Given the description of an element on the screen output the (x, y) to click on. 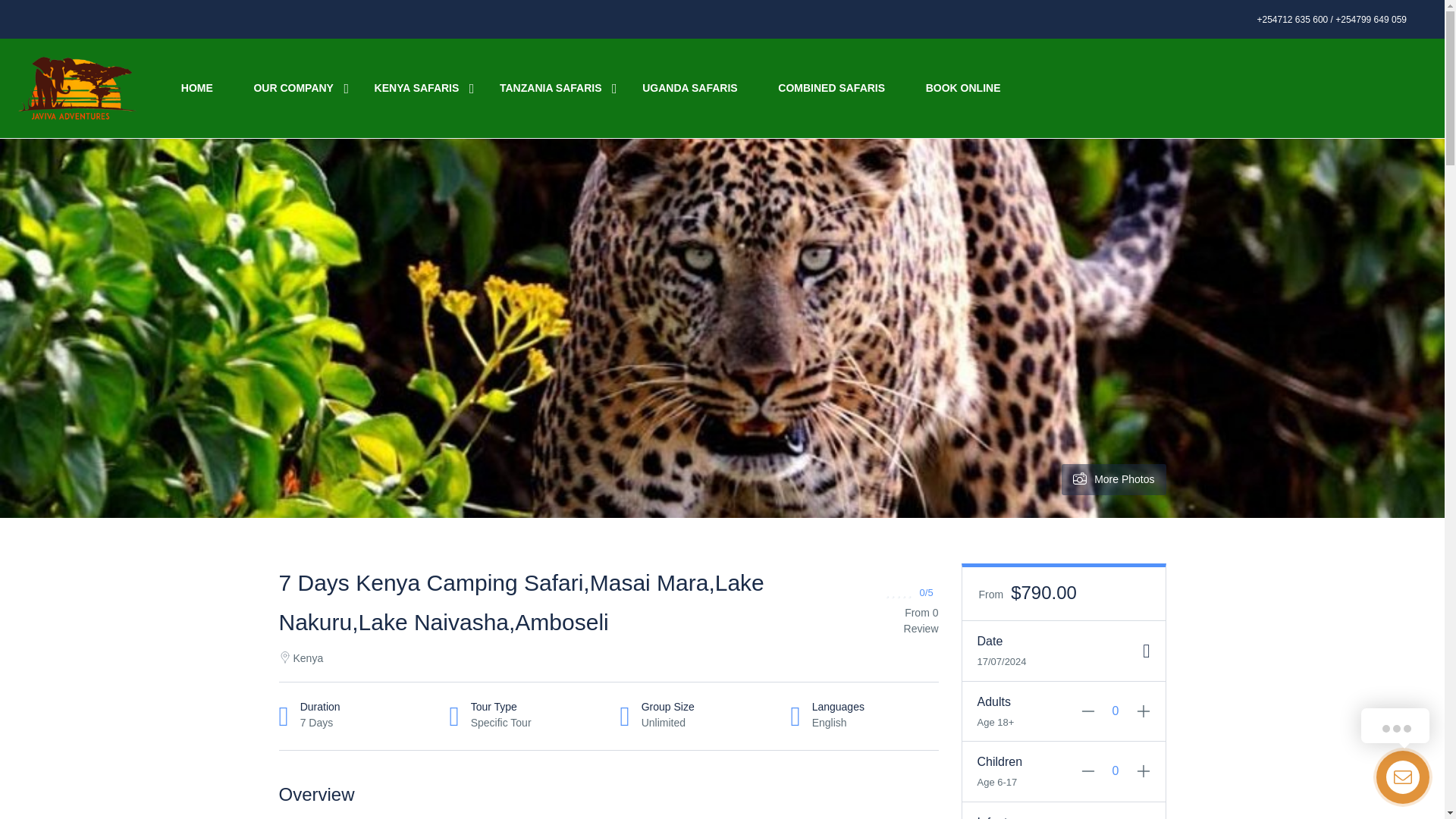
COMBINED SAFARIS (831, 88)
BOOK ONLINE (963, 88)
UGANDA SAFARIS (690, 88)
TANZANIA SAFARIS (550, 88)
Send message (50, 15)
More Photos (1113, 479)
OUR COMPANY (293, 88)
0 (1115, 710)
HOME (196, 88)
0 (1115, 770)
KENYA SAFARIS (417, 88)
